Given the description of an element on the screen output the (x, y) to click on. 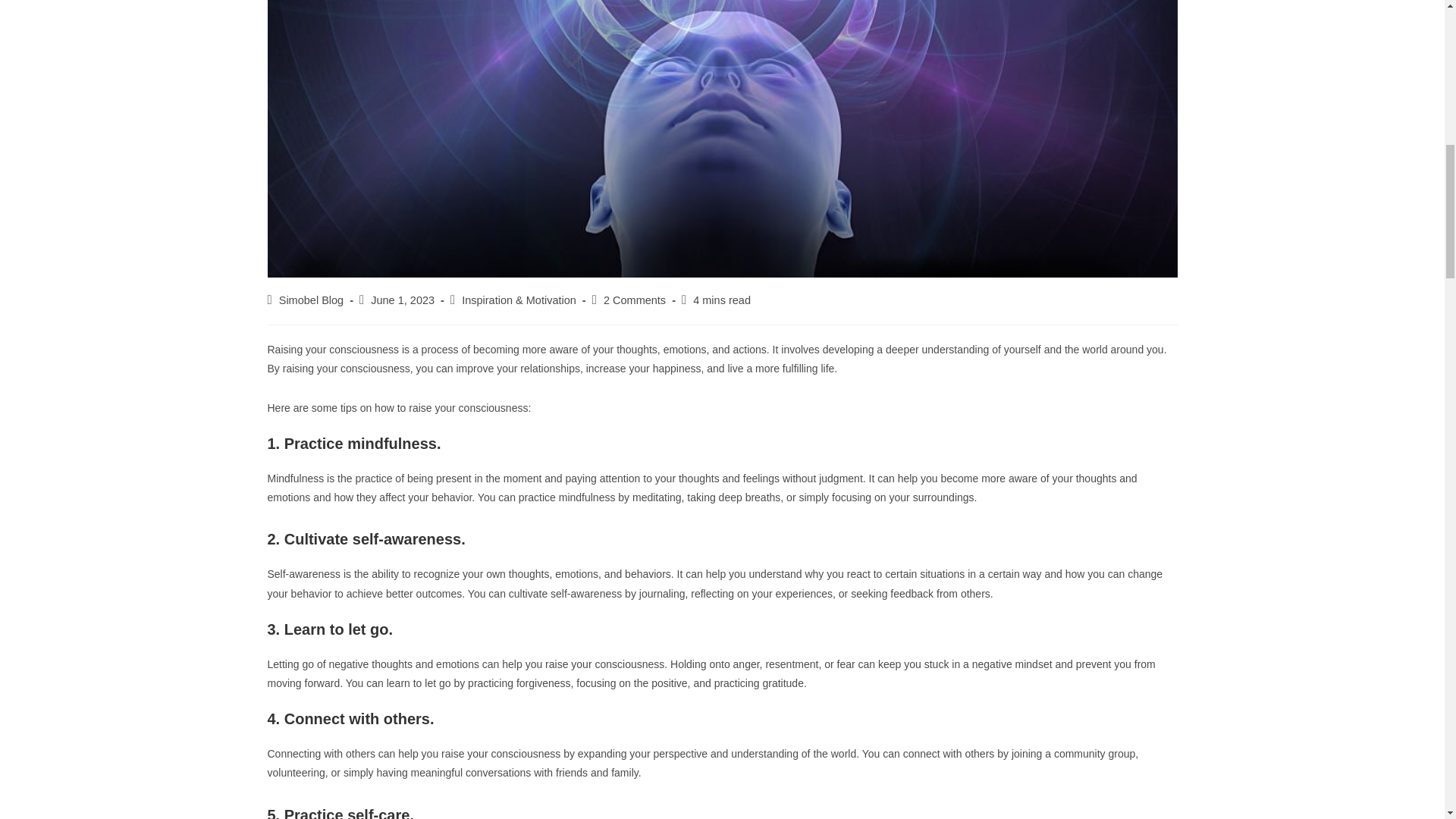
Simobel Blog (311, 300)
Posts by Simobel Blog (311, 300)
2 Comments (634, 300)
